Given the description of an element on the screen output the (x, y) to click on. 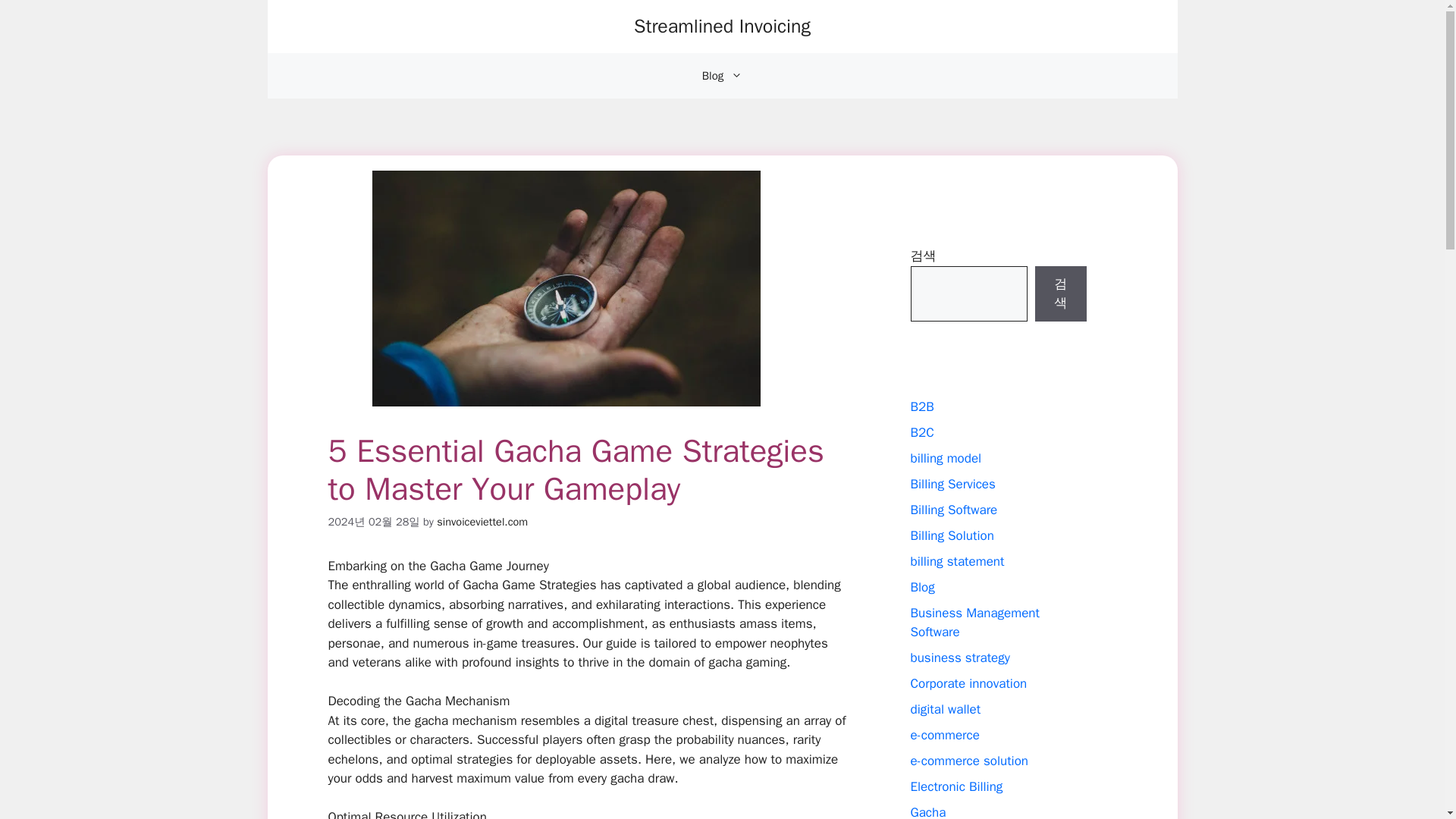
e-commerce (944, 734)
Corporate innovation (968, 683)
business strategy (959, 657)
Streamlined Invoicing (721, 25)
Electronic Billing (956, 786)
Business Management Software (974, 622)
billing statement (957, 561)
B2C (921, 432)
Billing Services (952, 483)
Blog (922, 587)
sinvoiceviettel.com (481, 521)
Billing Solution (951, 535)
e-commerce solution (968, 760)
billing model (945, 458)
B2B (921, 406)
